Given the description of an element on the screen output the (x, y) to click on. 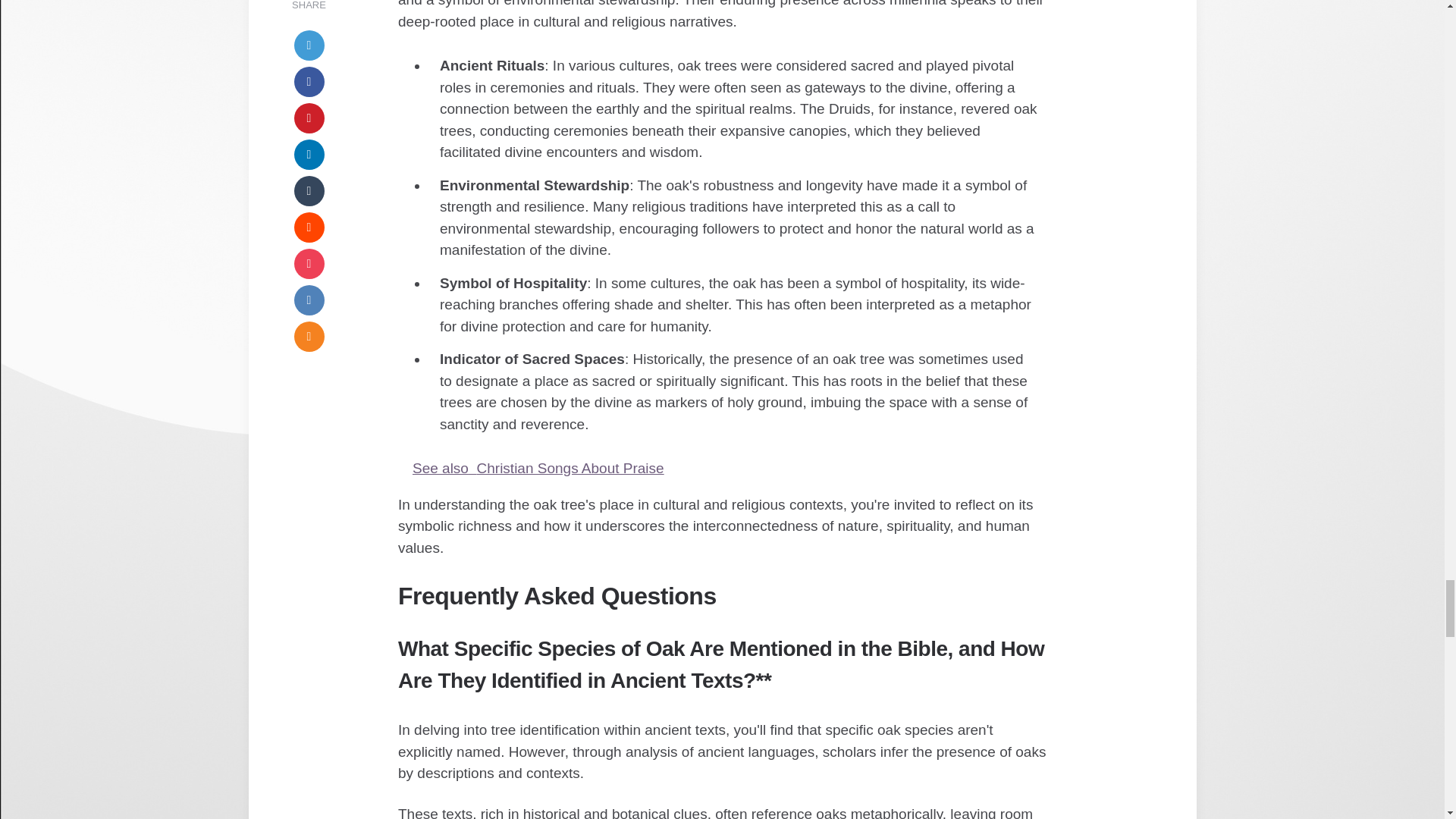
See also  Christian Songs About Praise (721, 468)
